Given the description of an element on the screen output the (x, y) to click on. 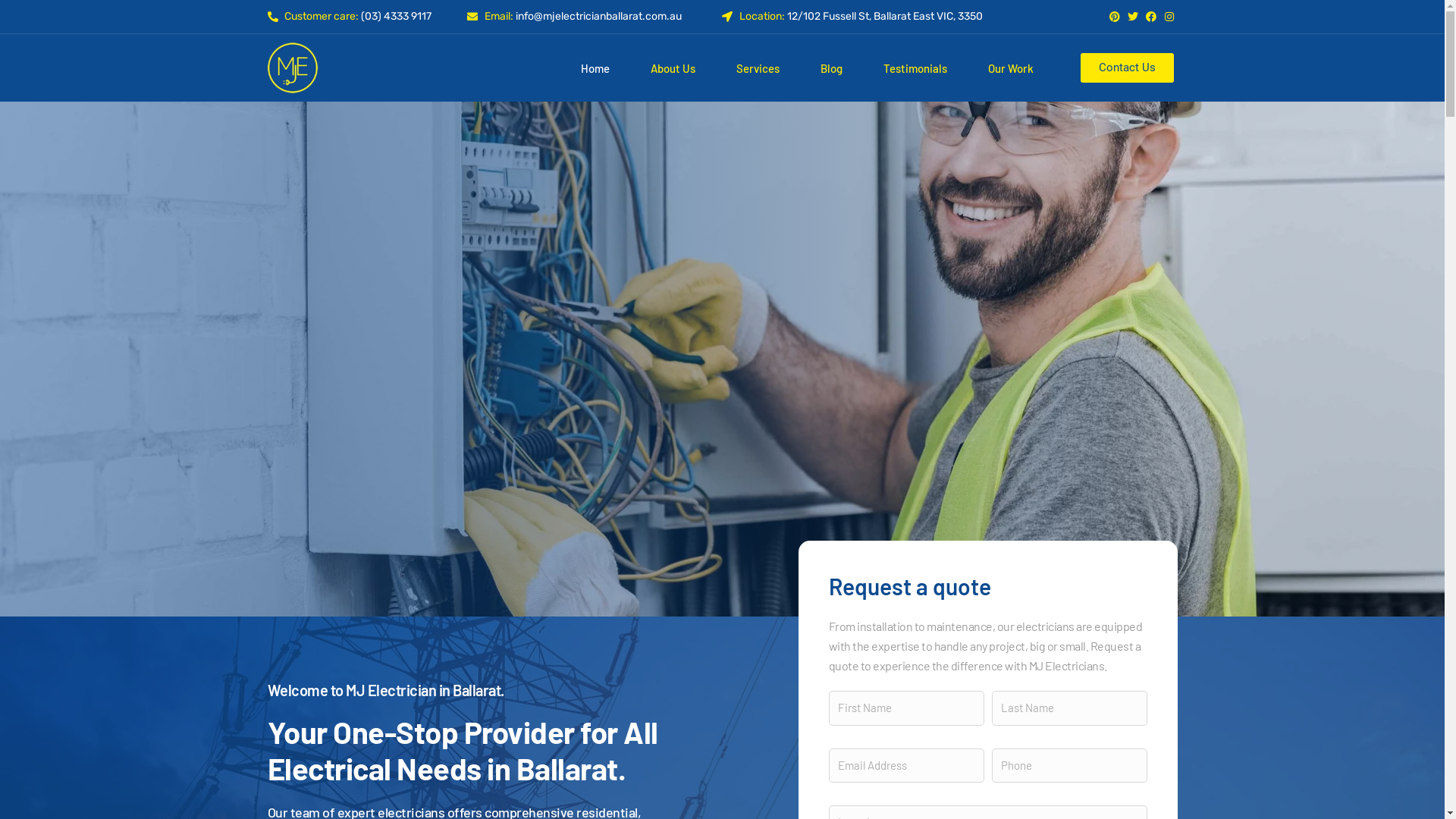
About Us Element type: text (672, 67)
Contact Us Element type: text (1126, 67)
Home Element type: text (594, 67)
Customer care: (03) 4333 9117 Element type: text (366, 16)
Services Element type: text (757, 67)
Our Work Element type: text (1010, 67)
Location: 12/102 Fussell St, Ballarat East VIC, 3350 Element type: text (867, 16)
Email: info@mjelectricianballarat.com.au Element type: text (594, 16)
Testimonials Element type: text (915, 67)
Blog Element type: text (831, 67)
